Given the description of an element on the screen output the (x, y) to click on. 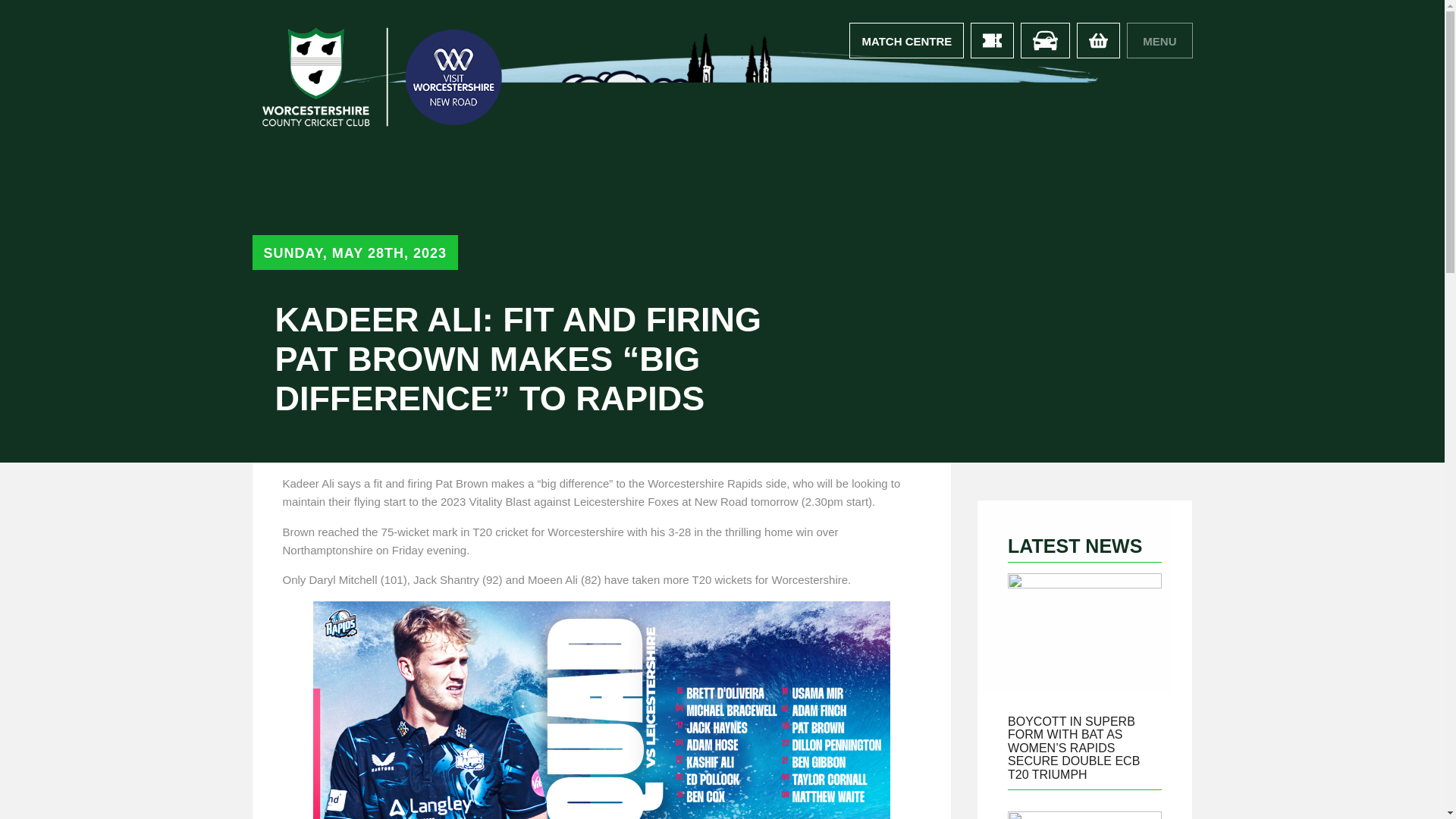
View shop (1098, 40)
View account (905, 40)
Get tickets (992, 40)
MATCH CENTRE (905, 40)
MENU (1159, 40)
Parking (1045, 40)
